Given the description of an element on the screen output the (x, y) to click on. 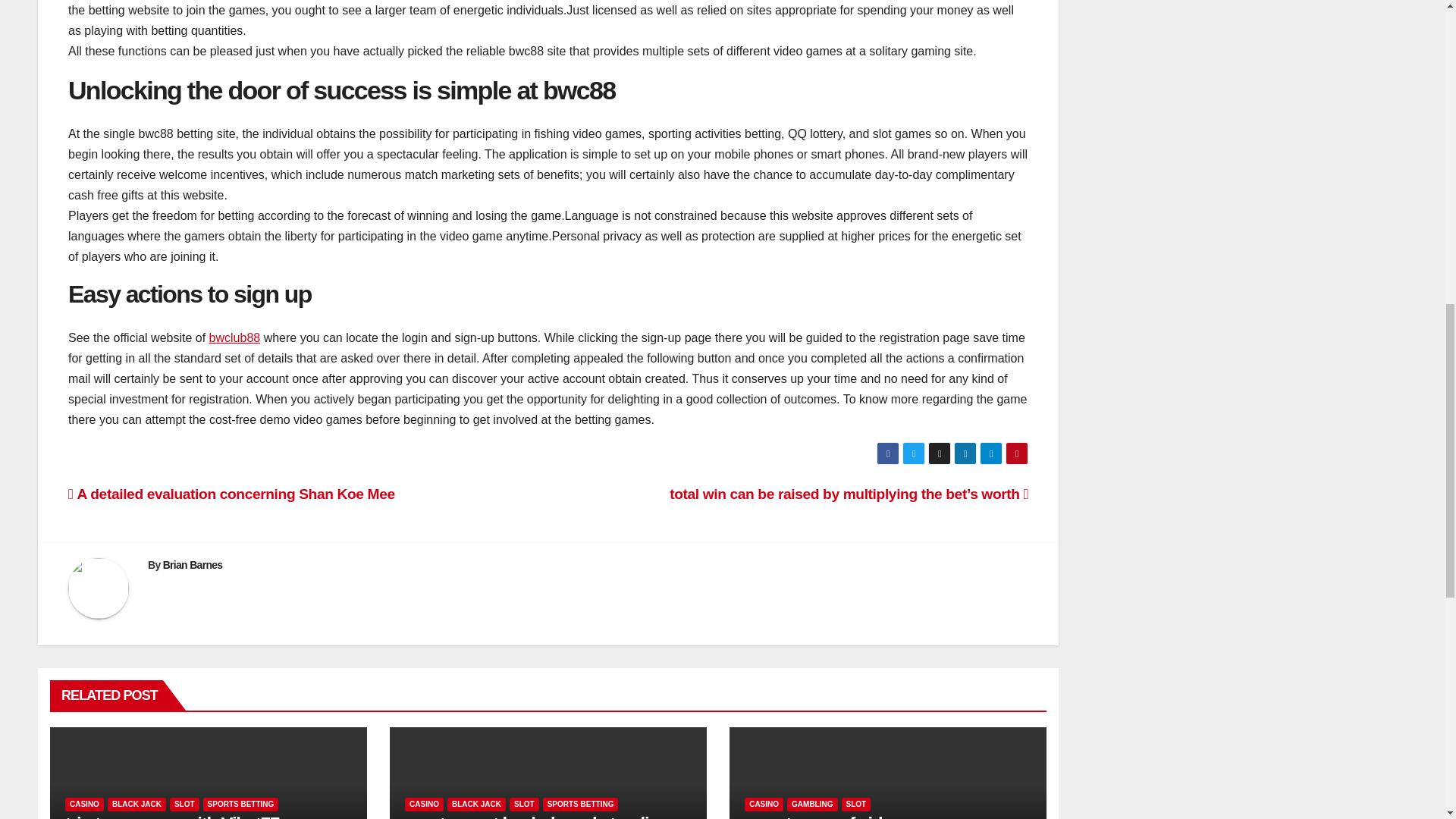
trip to success with Vibet77 (172, 816)
Permalink to: most recent leaderboard standings (541, 816)
SLOT (184, 804)
SPORTS BETTING (241, 804)
CASINO (84, 804)
Permalink to: trip to success with Vibet77 (172, 816)
bwclub88 (234, 337)
Permalink to: a vast array of video games (851, 816)
BLACK JACK (136, 804)
Brian Barnes (192, 564)
A detailed evaluation concerning Shan Koe Mee (231, 494)
